Given the description of an element on the screen output the (x, y) to click on. 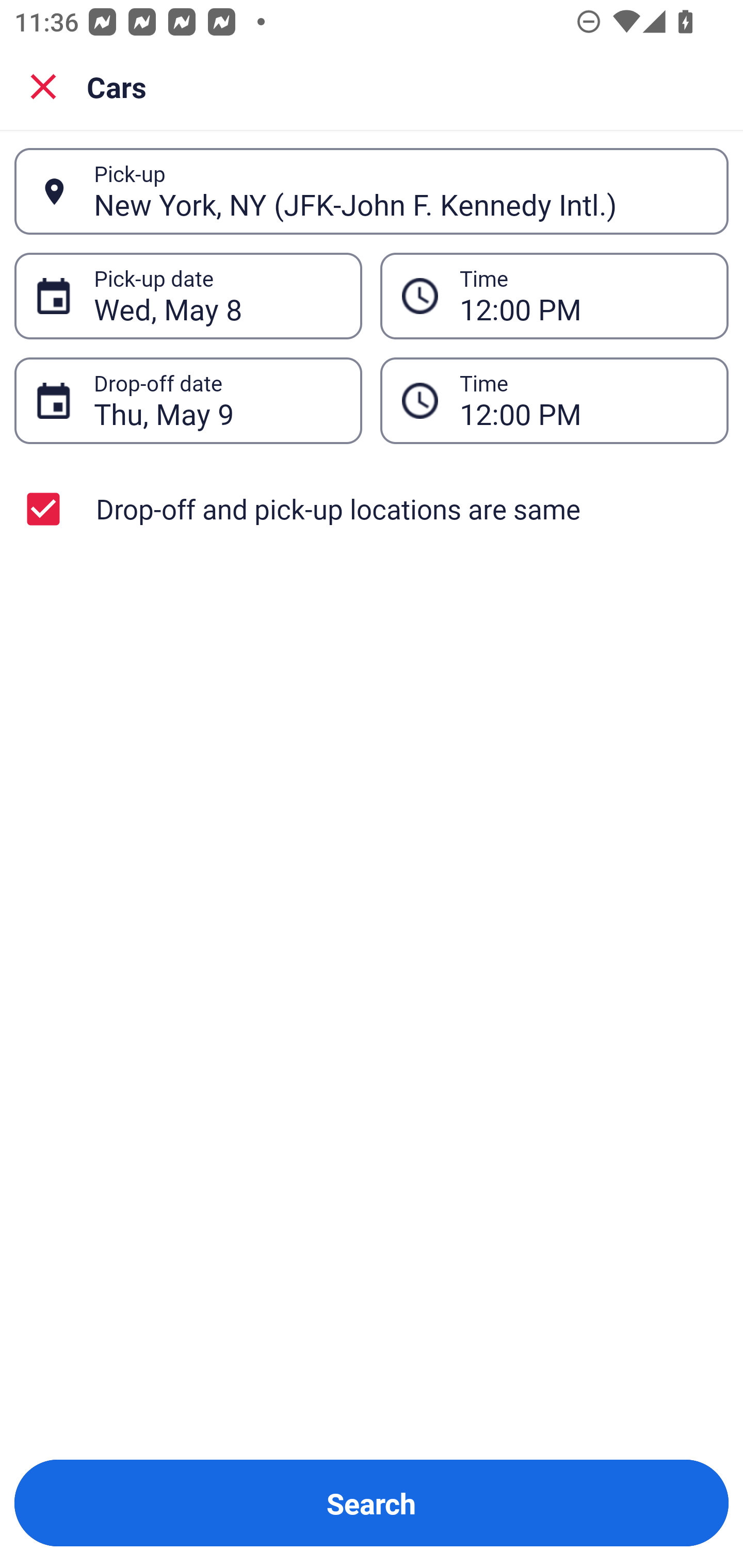
Close search screen (43, 86)
New York, NY (JFK-John F. Kennedy Intl.) Pick-up (371, 191)
New York, NY (JFK-John F. Kennedy Intl.) (399, 191)
Wed, May 8 Pick-up date (188, 295)
12:00 PM (554, 295)
Wed, May 8 (216, 296)
12:00 PM (582, 296)
Thu, May 9 Drop-off date (188, 400)
12:00 PM (554, 400)
Thu, May 9 (216, 400)
12:00 PM (582, 400)
Drop-off and pick-up locations are same (371, 508)
Search Button Search (371, 1502)
